Given the description of an element on the screen output the (x, y) to click on. 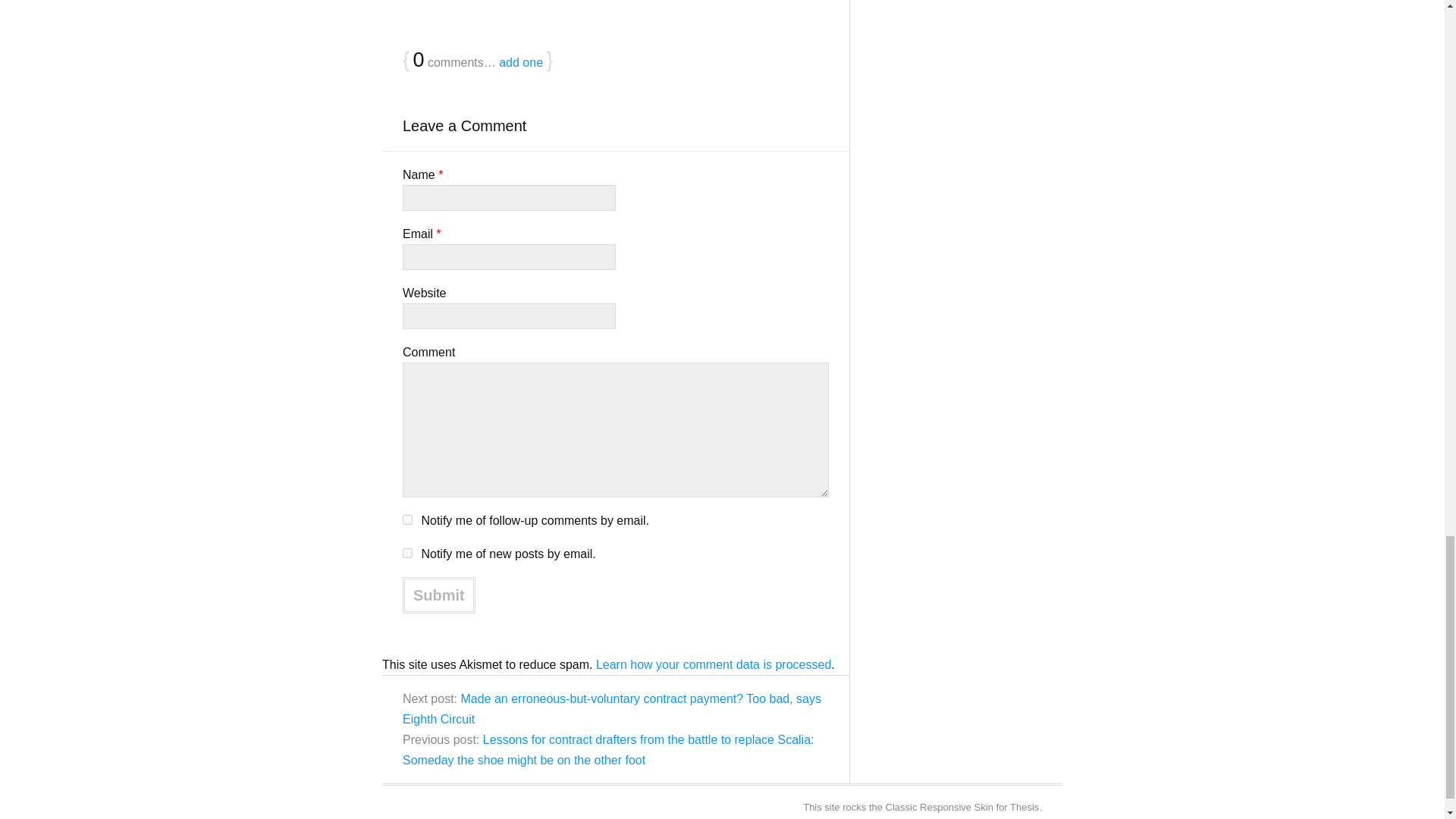
Submit (439, 595)
Submit (439, 595)
Learn how your comment data is processed (713, 664)
subscribe (407, 552)
add one (521, 62)
subscribe (407, 519)
